Given the description of an element on the screen output the (x, y) to click on. 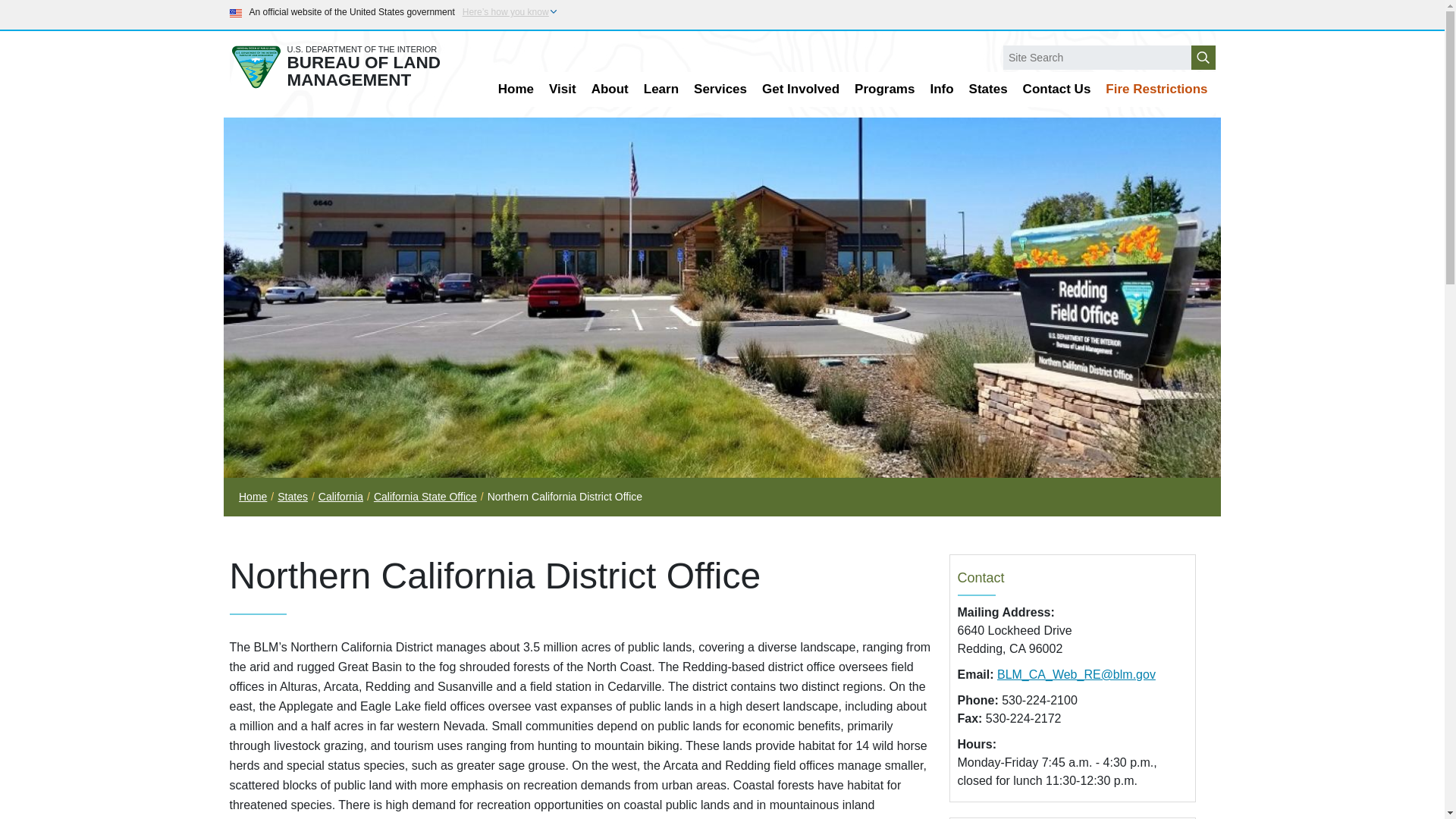
Visit (562, 89)
Bureau of Land Management Home Page (347, 66)
Home (515, 89)
About (609, 89)
Submit (1202, 57)
Learn (660, 89)
Submit (1202, 57)
